Given the description of an element on the screen output the (x, y) to click on. 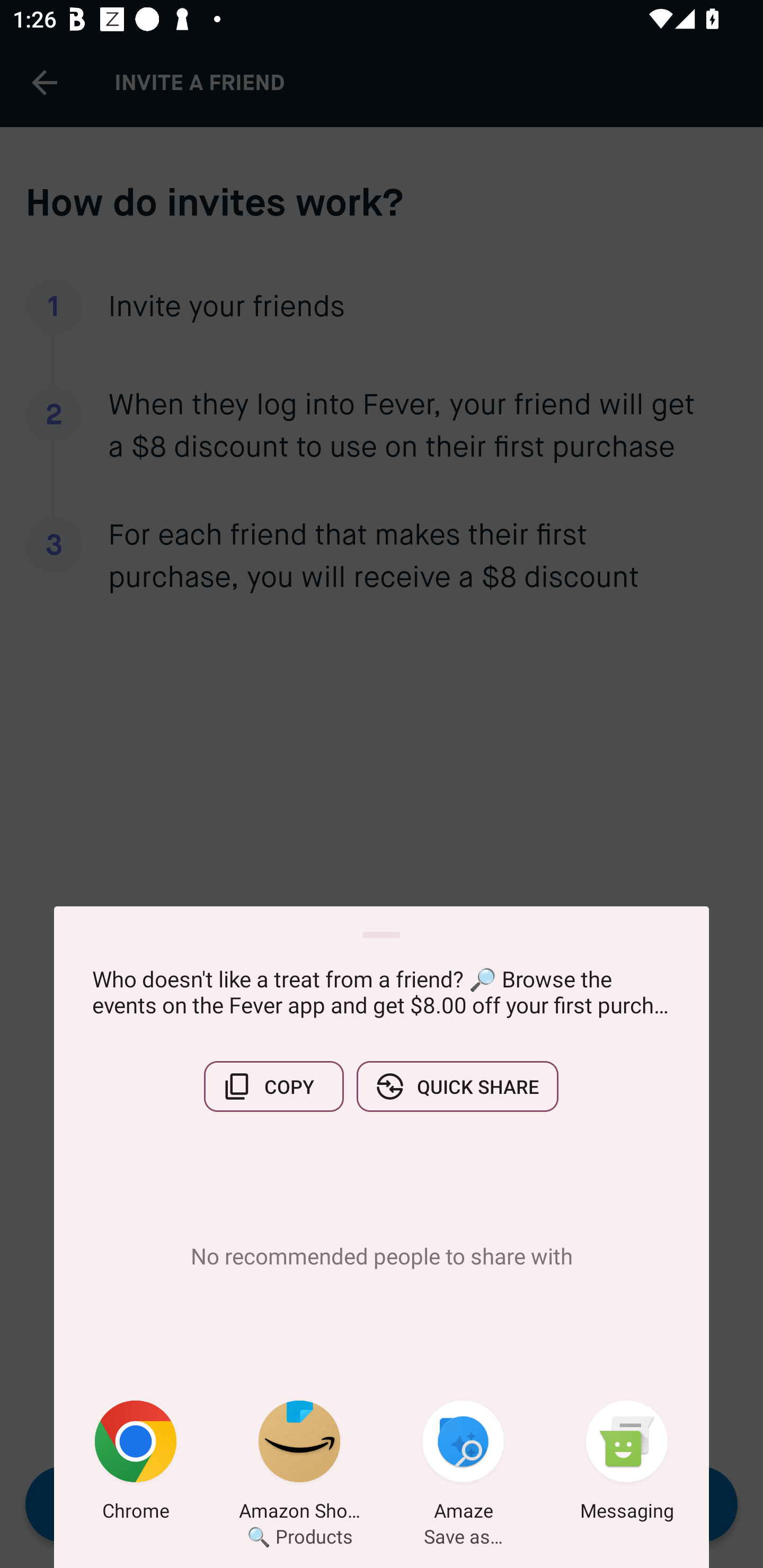
COPY (273, 1086)
QUICK SHARE (457, 1086)
Chrome (135, 1463)
Amazon Shopping 🔍 Products (299, 1463)
Amaze Save as… (463, 1463)
Messaging (626, 1463)
